Given the description of an element on the screen output the (x, y) to click on. 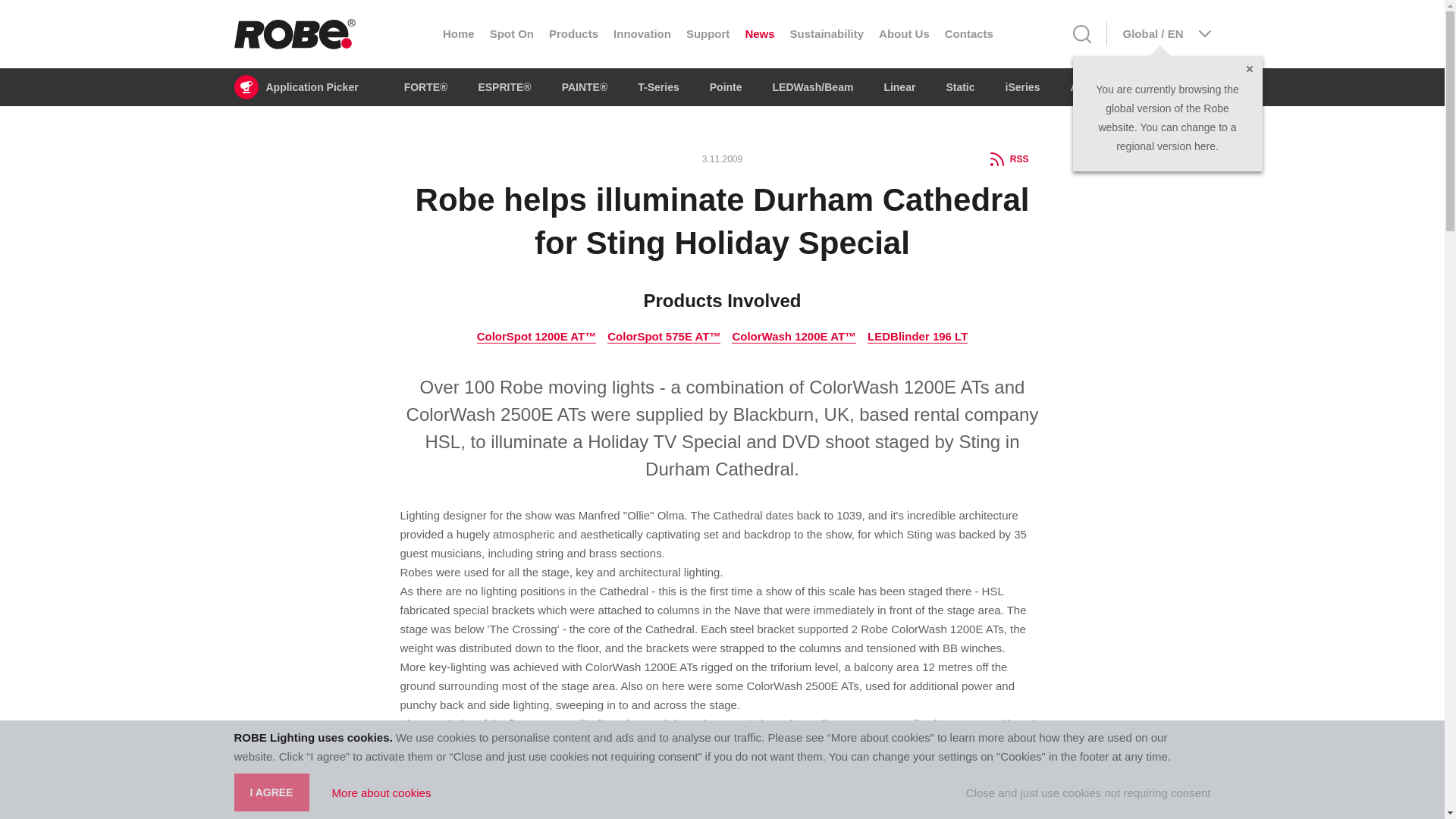
Sustainability (827, 33)
